Given the description of an element on the screen output the (x, y) to click on. 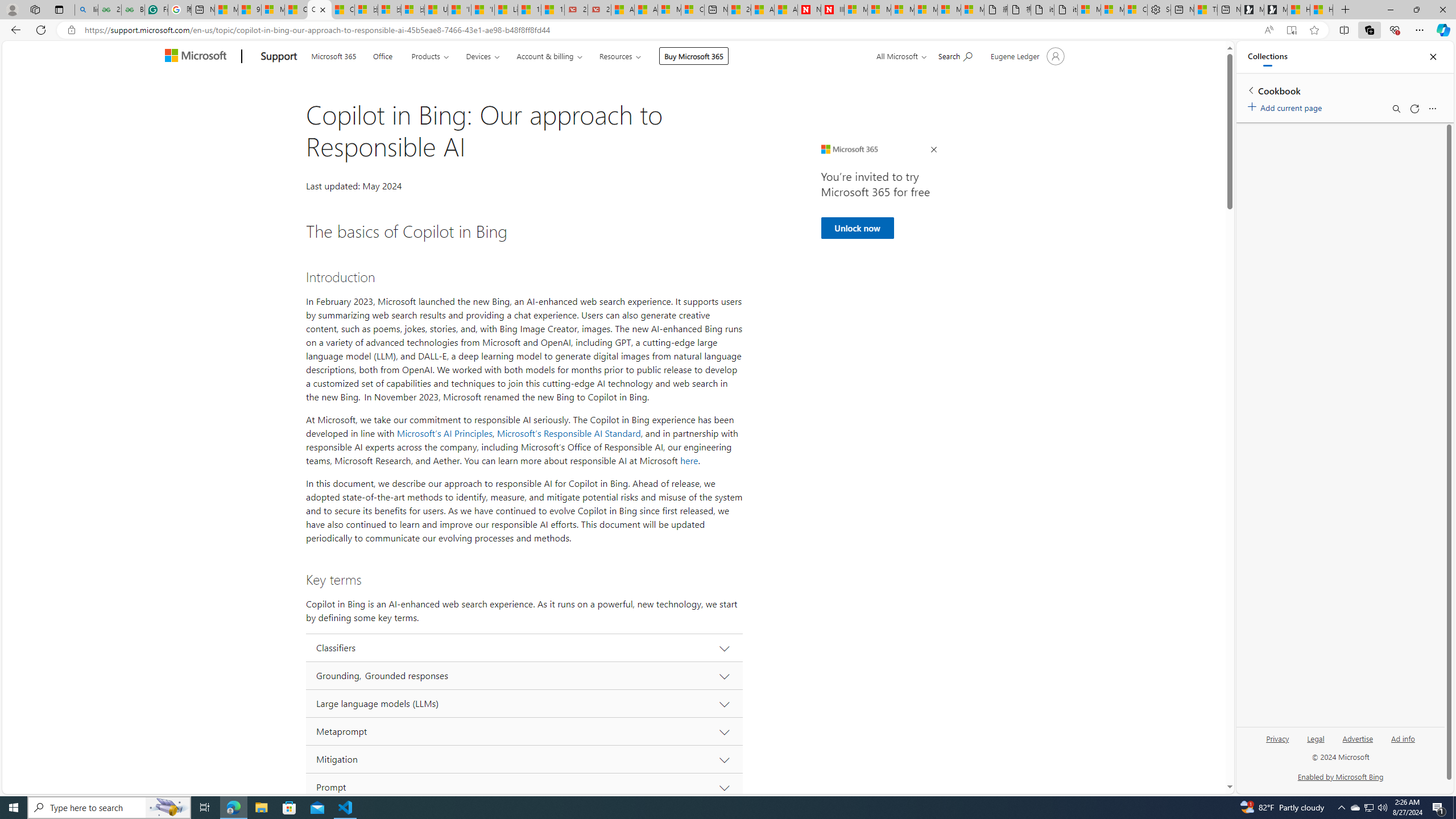
More options menu (1432, 108)
How to Use a TV as a Computer Monitor (1321, 9)
Free AI Writing Assistance for Students | Grammarly (156, 9)
